Given the description of an element on the screen output the (x, y) to click on. 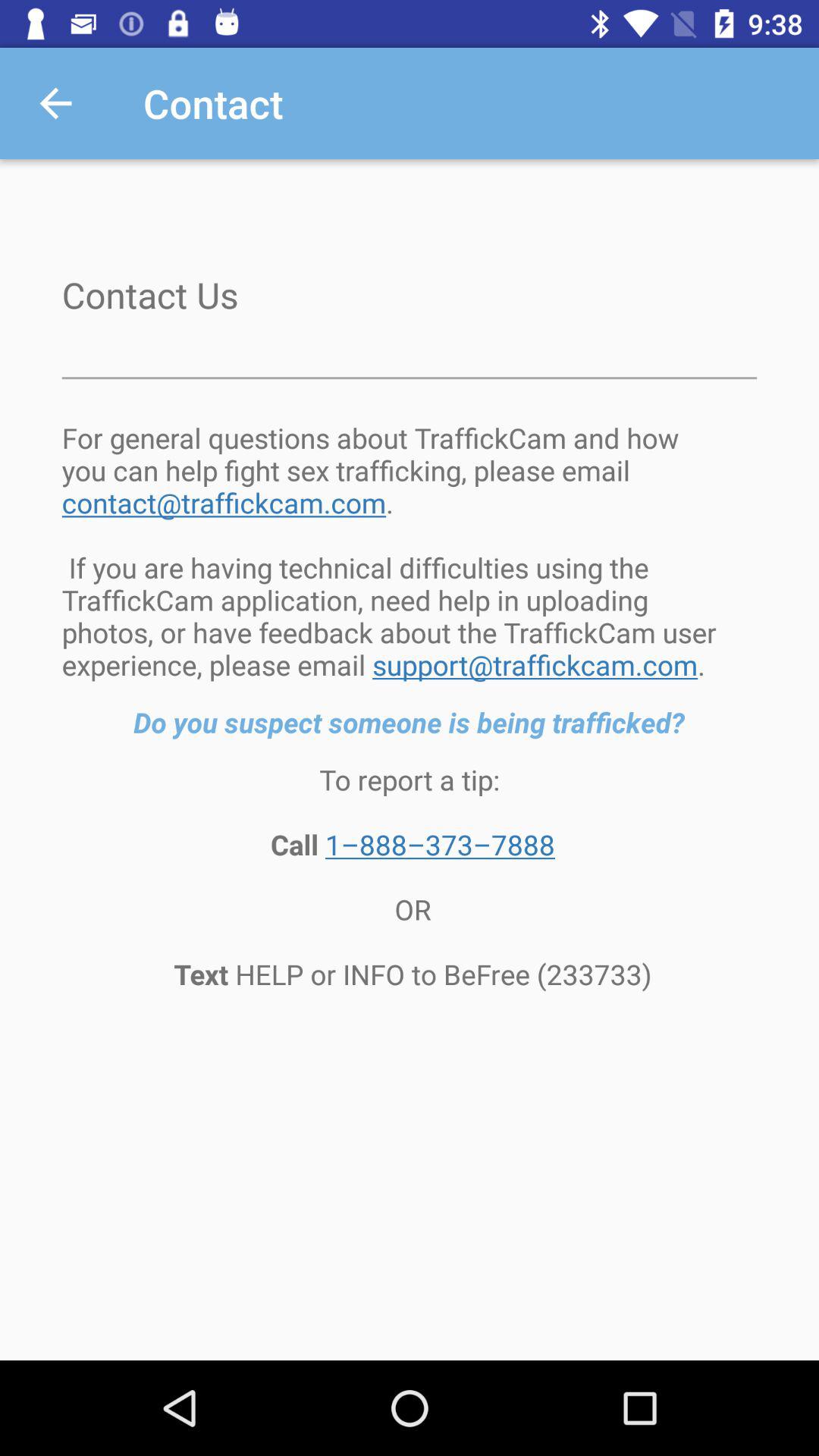
launch for general questions item (409, 551)
